Given the description of an element on the screen output the (x, y) to click on. 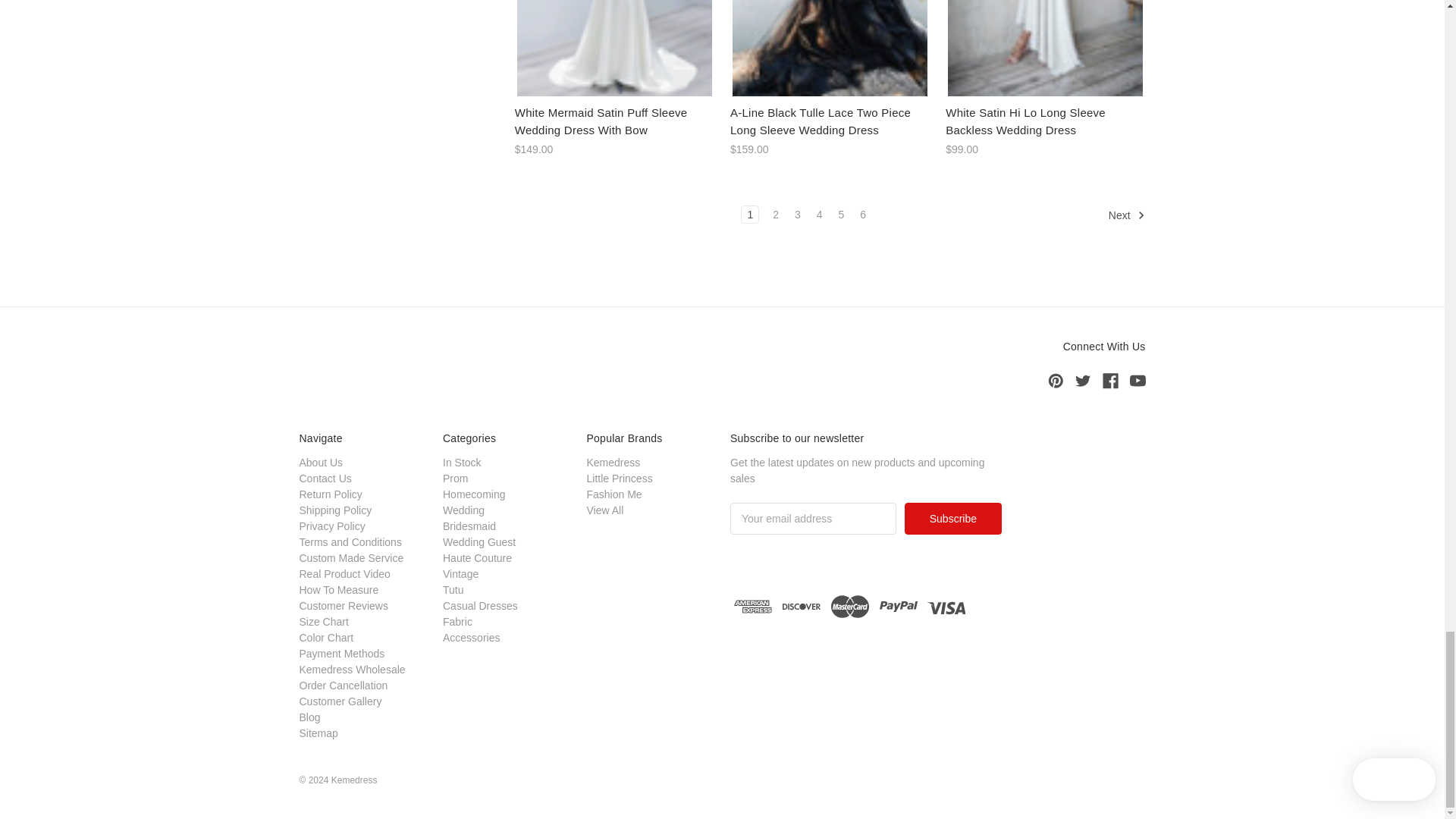
Subscribe (952, 518)
